Given the description of an element on the screen output the (x, y) to click on. 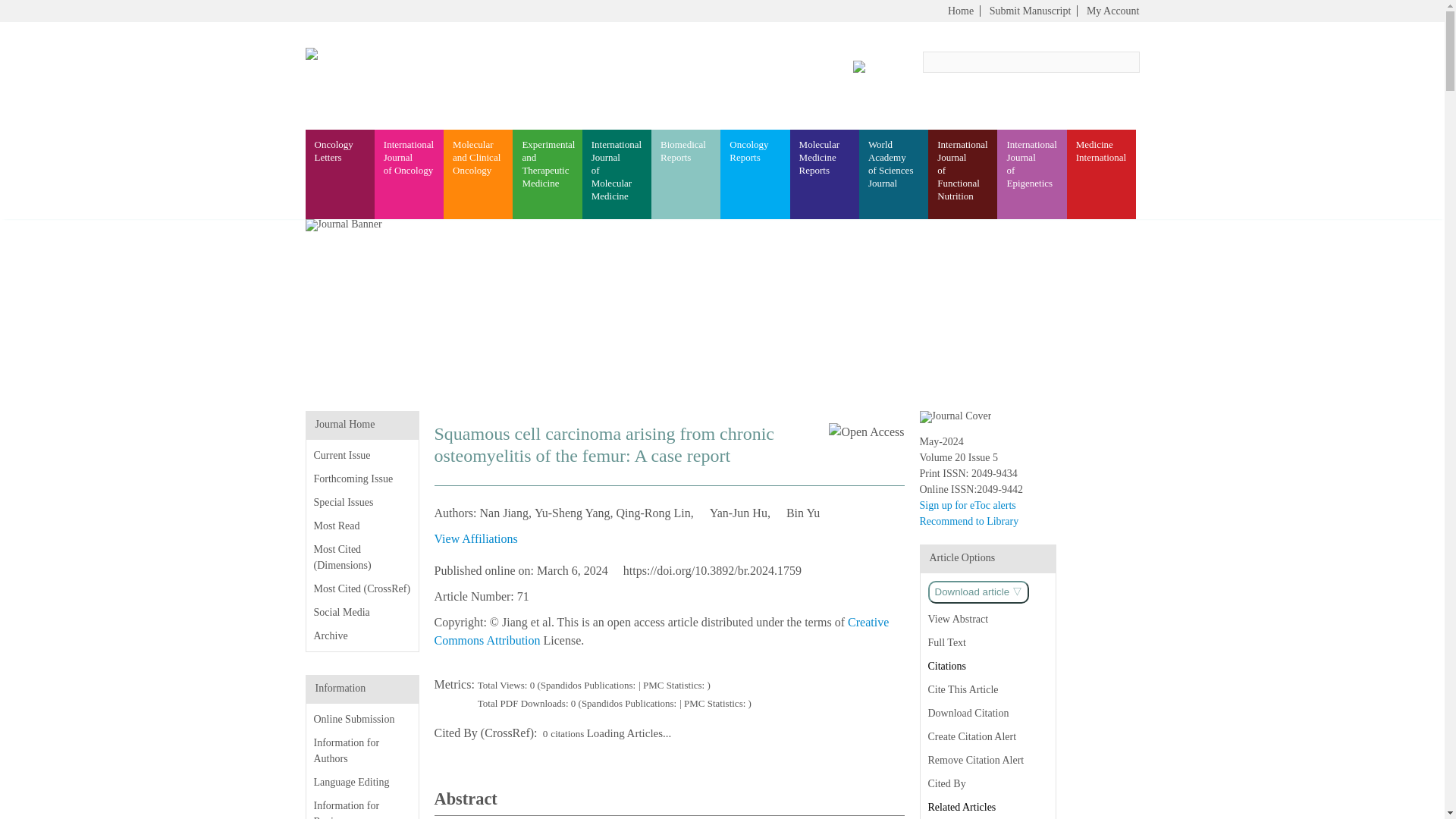
Most Read (336, 525)
Journal Home (345, 423)
Register (1031, 174)
Social Media (1080, 79)
Special Issues (478, 174)
The metrics are calculated only from this site (824, 174)
The metrics are calculated only from this site (341, 612)
Current Issue (344, 501)
